Given the description of an element on the screen output the (x, y) to click on. 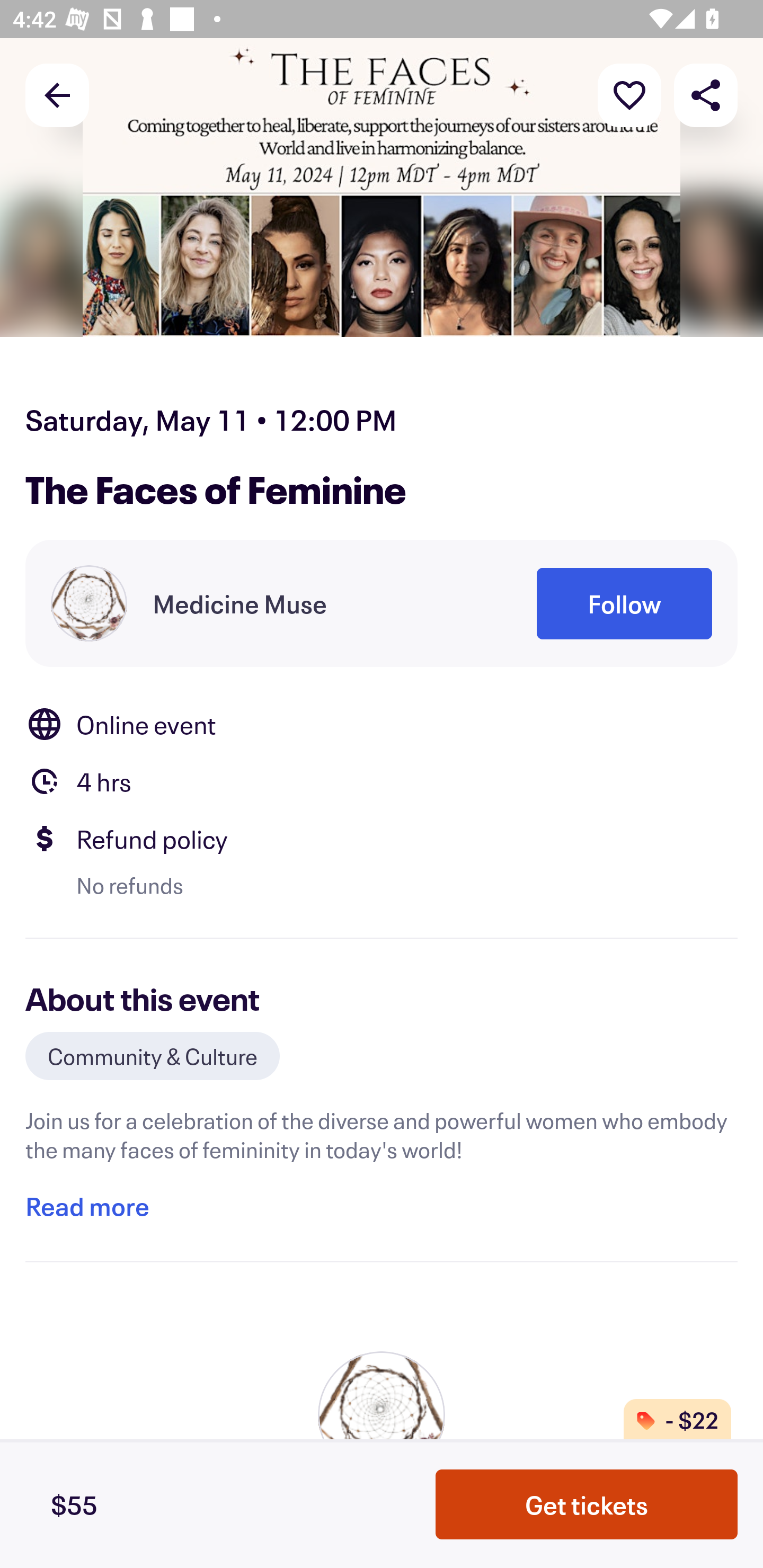
Back (57, 94)
More (629, 94)
Share (705, 94)
Organizer profile picture (89, 602)
Medicine Muse (239, 603)
Follow (623, 603)
Location Online event (381, 724)
Read more (87, 1206)
Get tickets (586, 1504)
